Given the description of an element on the screen output the (x, y) to click on. 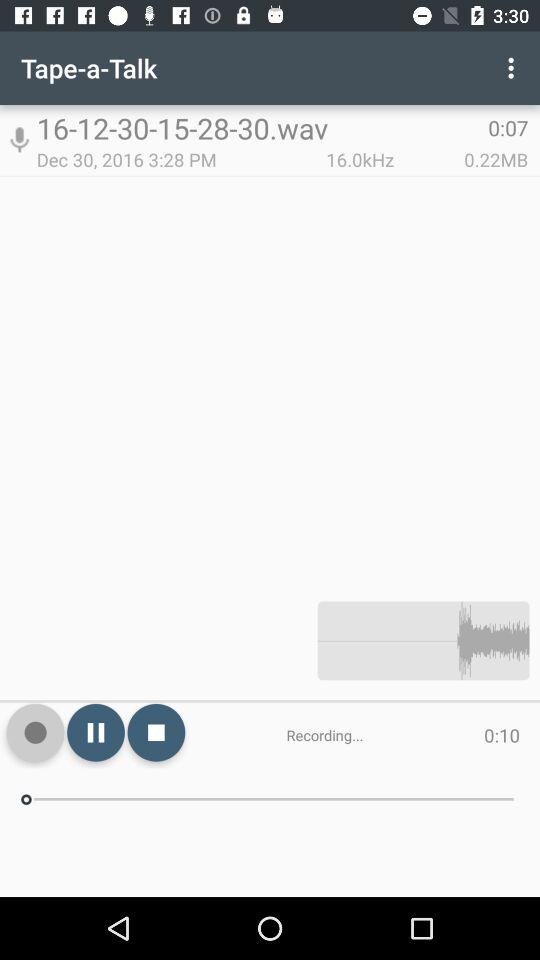
tap the app below the tape-a-talk app (19, 140)
